Given the description of an element on the screen output the (x, y) to click on. 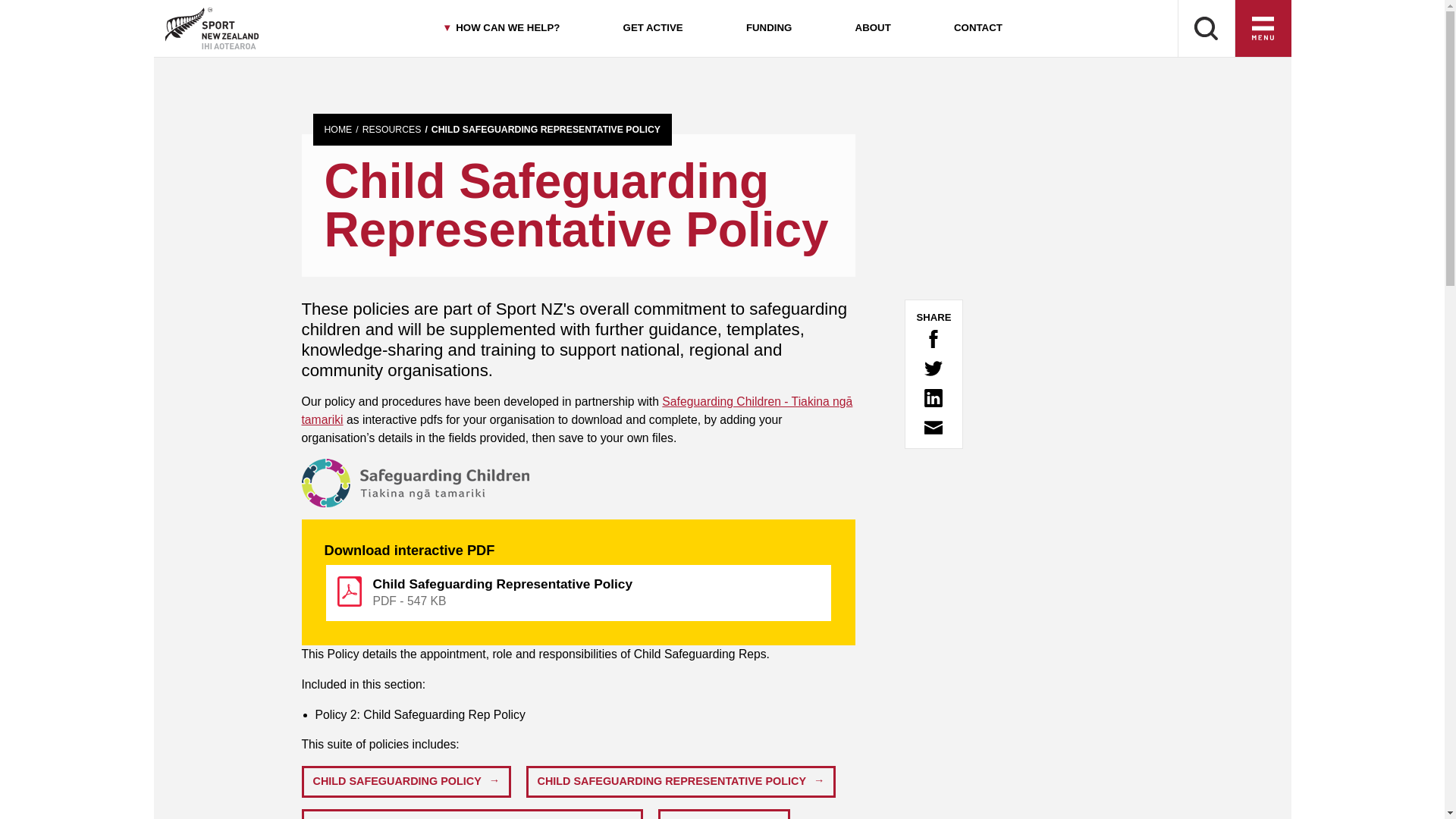
Privacy policy (724, 814)
GET ACTIVE (652, 29)
ABOUT (872, 29)
Child Safeguarding Policy (406, 781)
CONTACT (977, 29)
Search (1206, 28)
Share via Email (932, 427)
Open the burger navigation (1262, 28)
FUNDING (768, 29)
Child Safeguarding Rep Policy (680, 781)
Information sharing and confidentiality policy (472, 814)
Safeguarding Children (577, 409)
HOW CAN WE HELP? (500, 29)
